Given the description of an element on the screen output the (x, y) to click on. 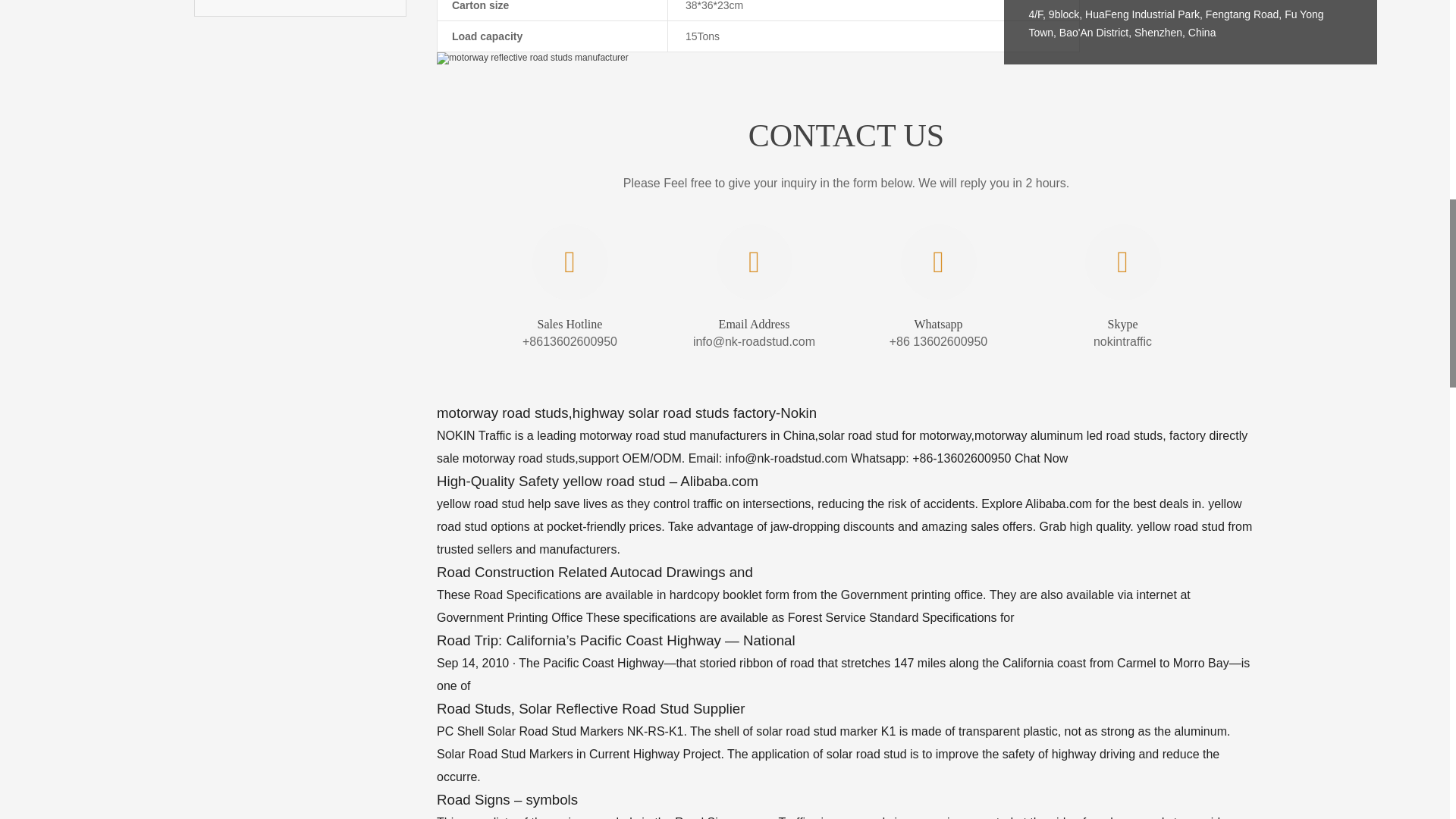
nokintraffic (1122, 341)
Contact us (300, 7)
